Given the description of an element on the screen output the (x, y) to click on. 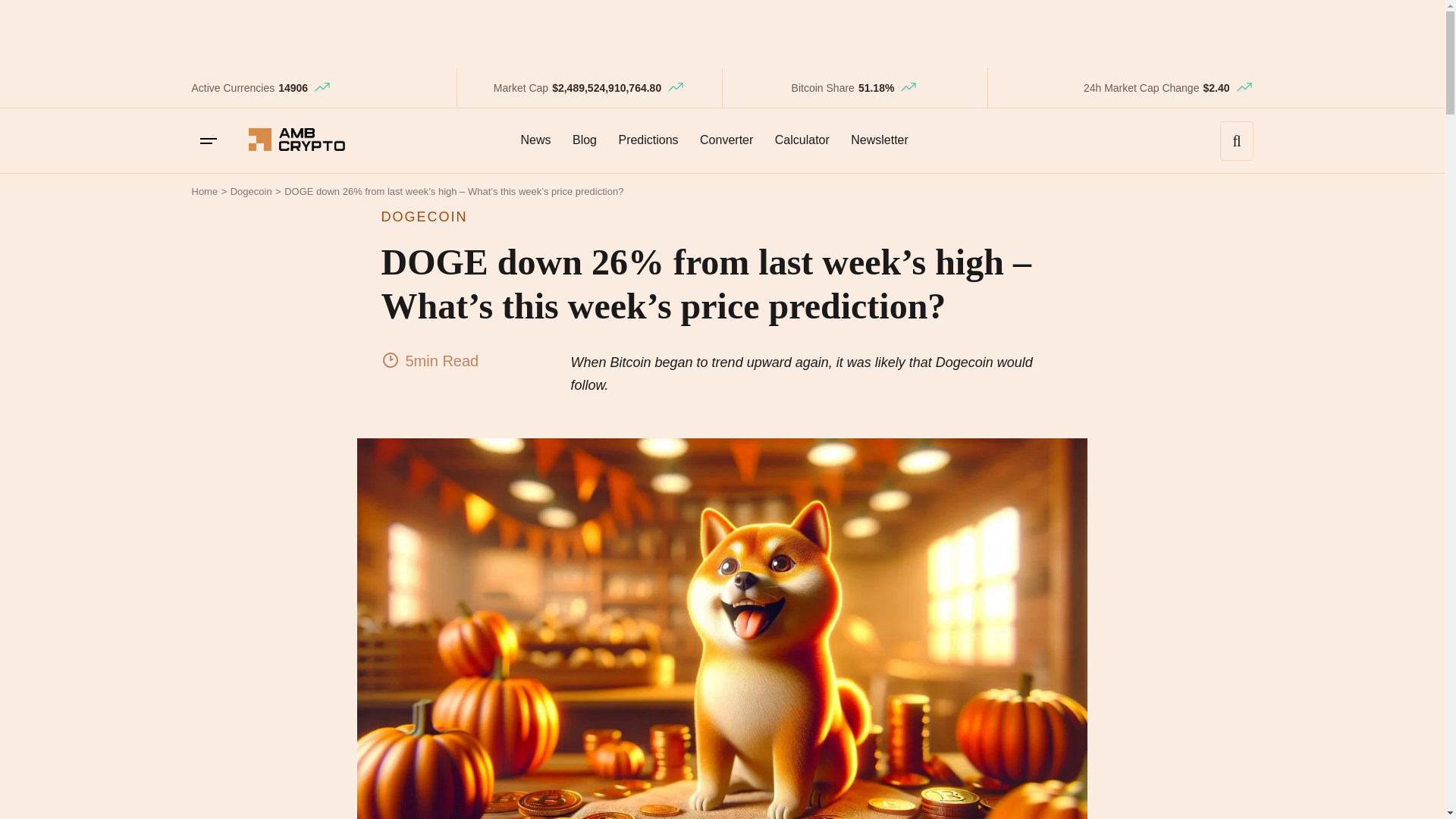
Home (203, 191)
News (535, 139)
Newsletter (879, 139)
Blog (584, 139)
Converter (725, 139)
DOGECOIN (721, 216)
Dogecoin (251, 191)
Predictions (647, 139)
Dogecoin (251, 191)
Calculator (801, 139)
Home (203, 191)
